Given the description of an element on the screen output the (x, y) to click on. 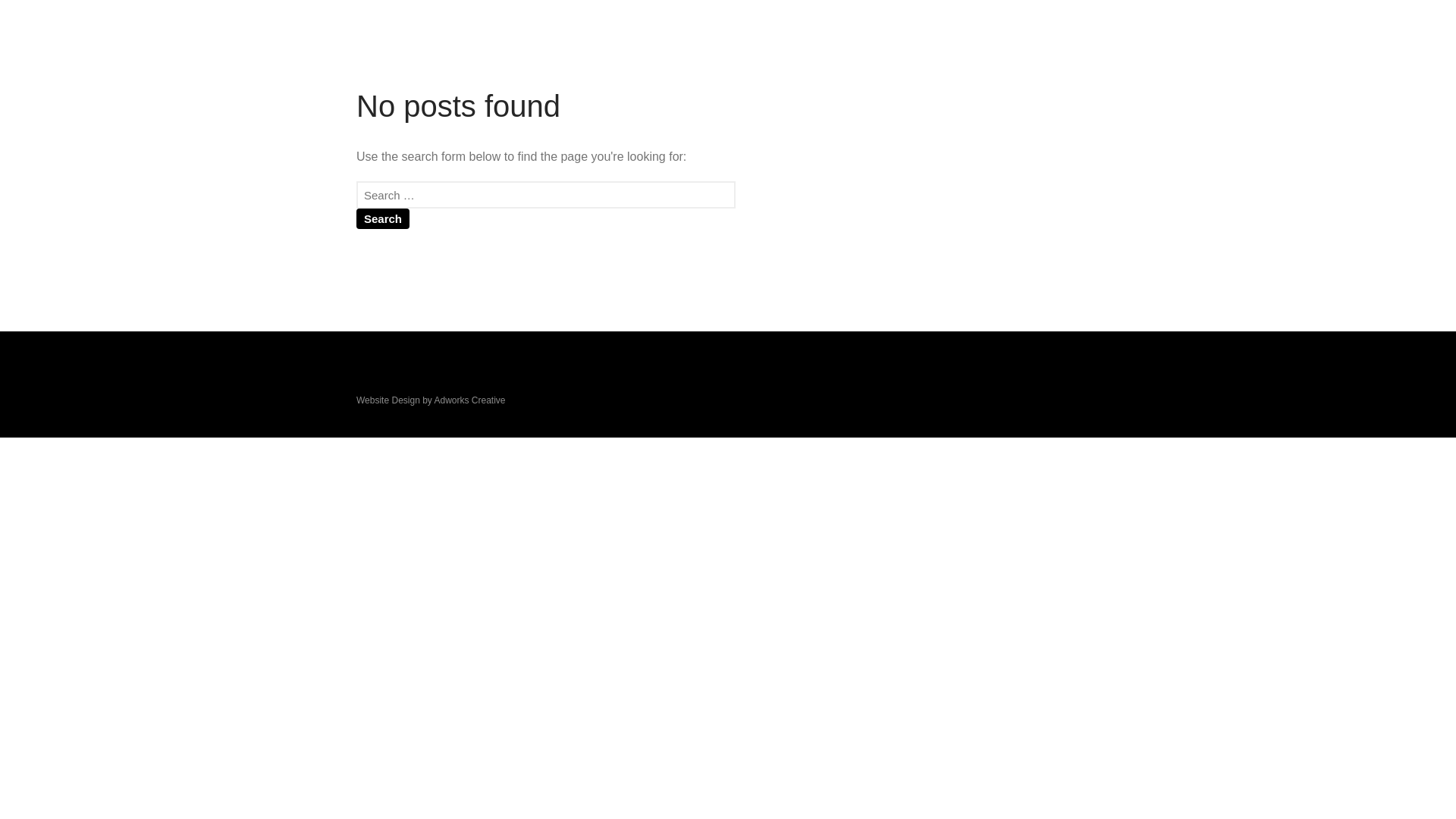
Contour Hair Portsea Element type: text (1133, 78)
BOOK Element type: text (683, 47)
CONTACT Element type: text (614, 47)
HOME Element type: text (377, 47)
Instagram Element type: text (731, 47)
SERVICES Element type: text (447, 47)
Search Element type: text (382, 218)
PRICE LIST Element type: text (532, 47)
